Given the description of an element on the screen output the (x, y) to click on. 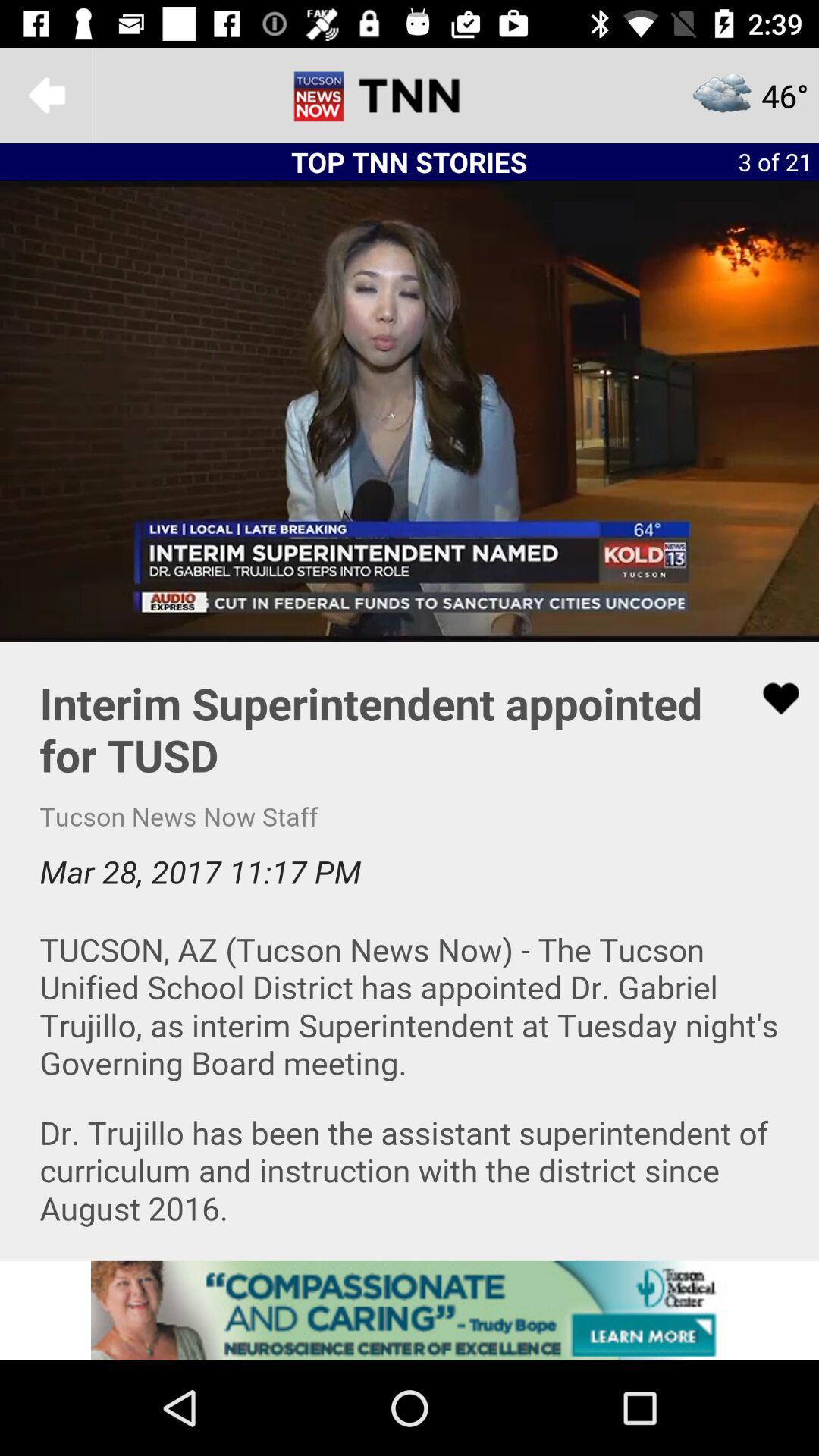
go back (47, 95)
